Given the description of an element on the screen output the (x, y) to click on. 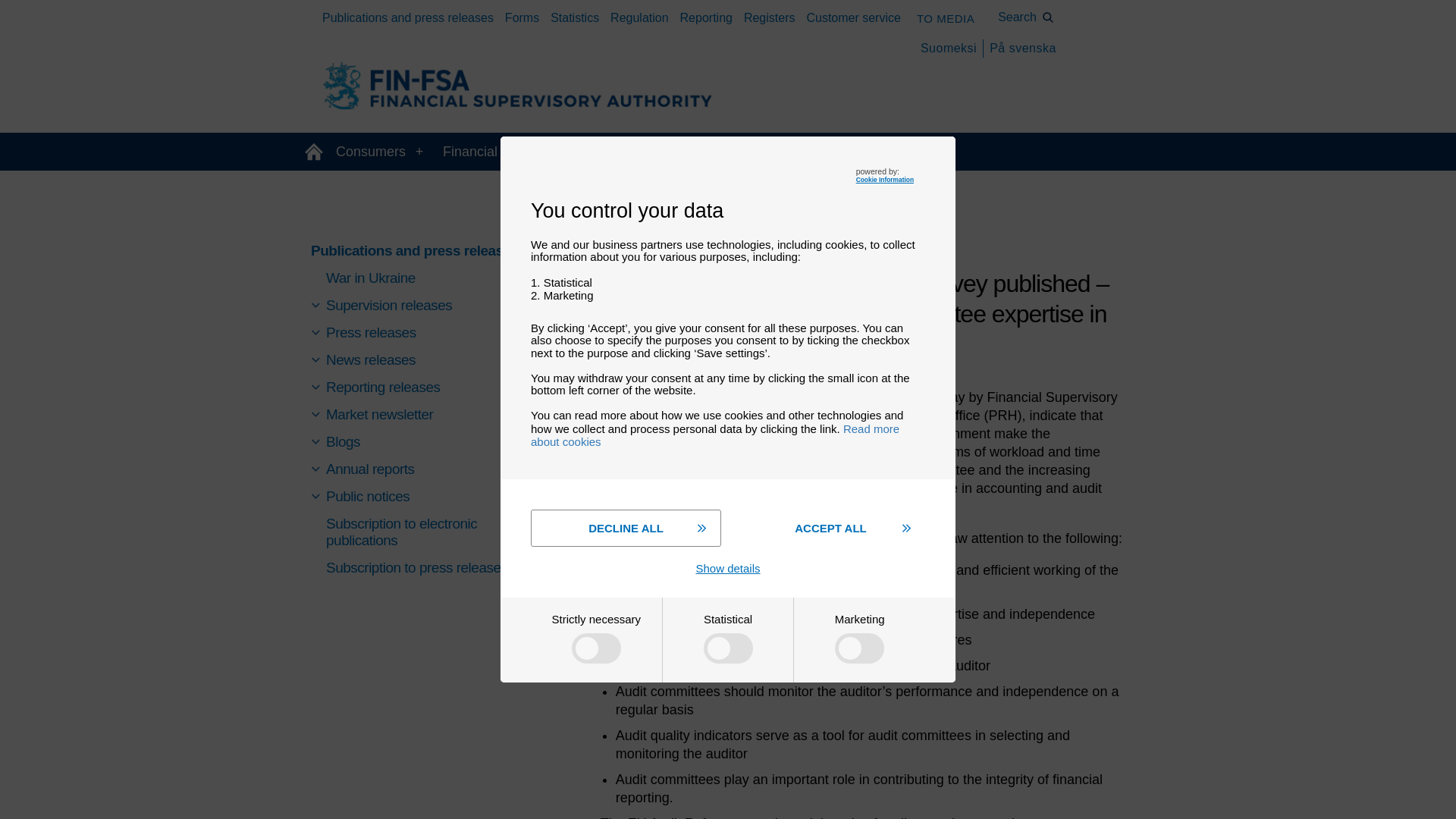
Search (1026, 17)
Show details (727, 567)
Cookie Information (885, 179)
DECLINE ALL (625, 528)
ACCEPT ALL (830, 528)
Read more about cookies (715, 435)
